Given the description of an element on the screen output the (x, y) to click on. 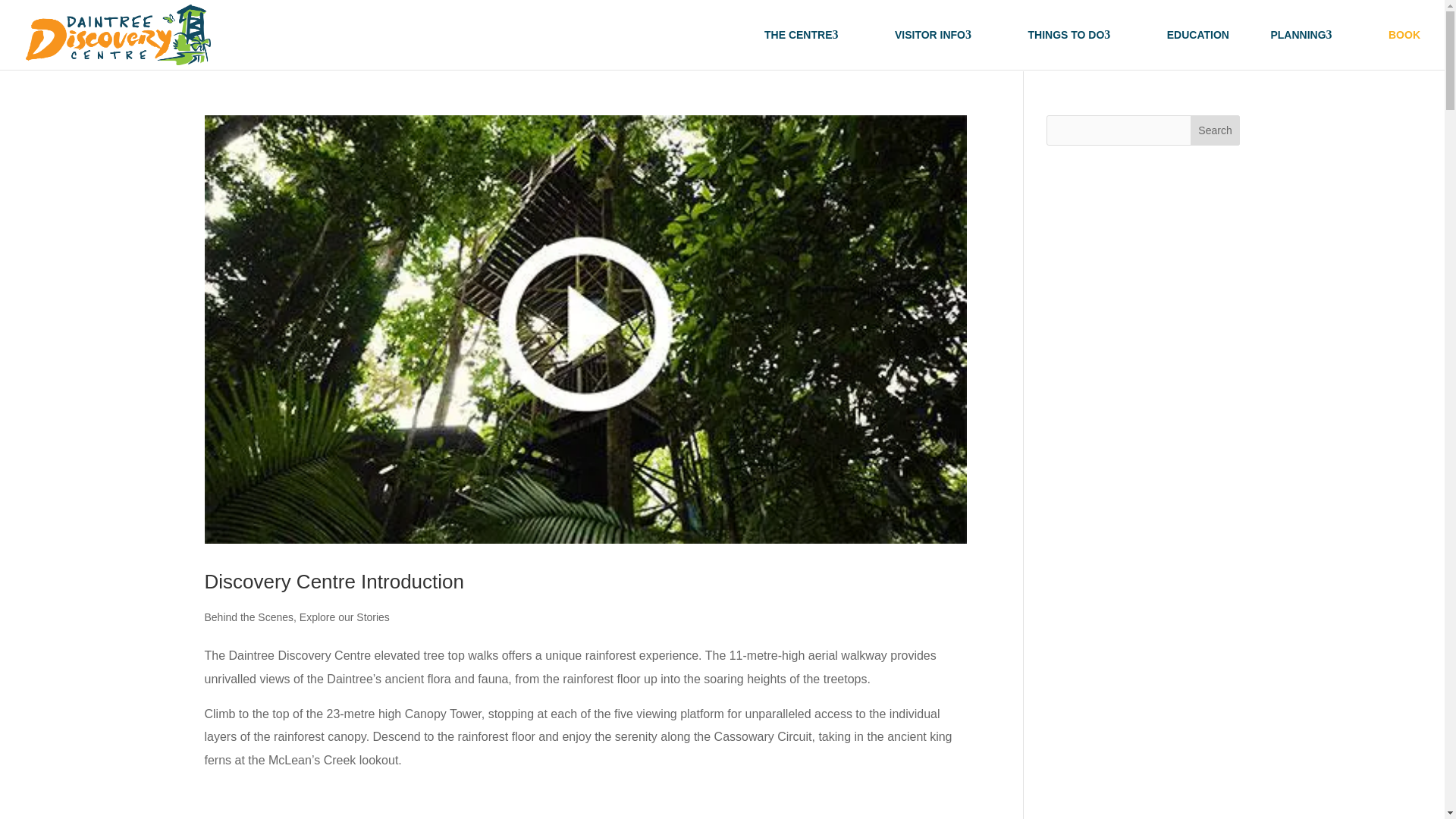
VISITOR INFO (941, 49)
PLANNING (1307, 49)
EDUCATION (1197, 49)
THINGS TO DO (1076, 49)
THE CENTRE (808, 49)
